Given the description of an element on the screen output the (x, y) to click on. 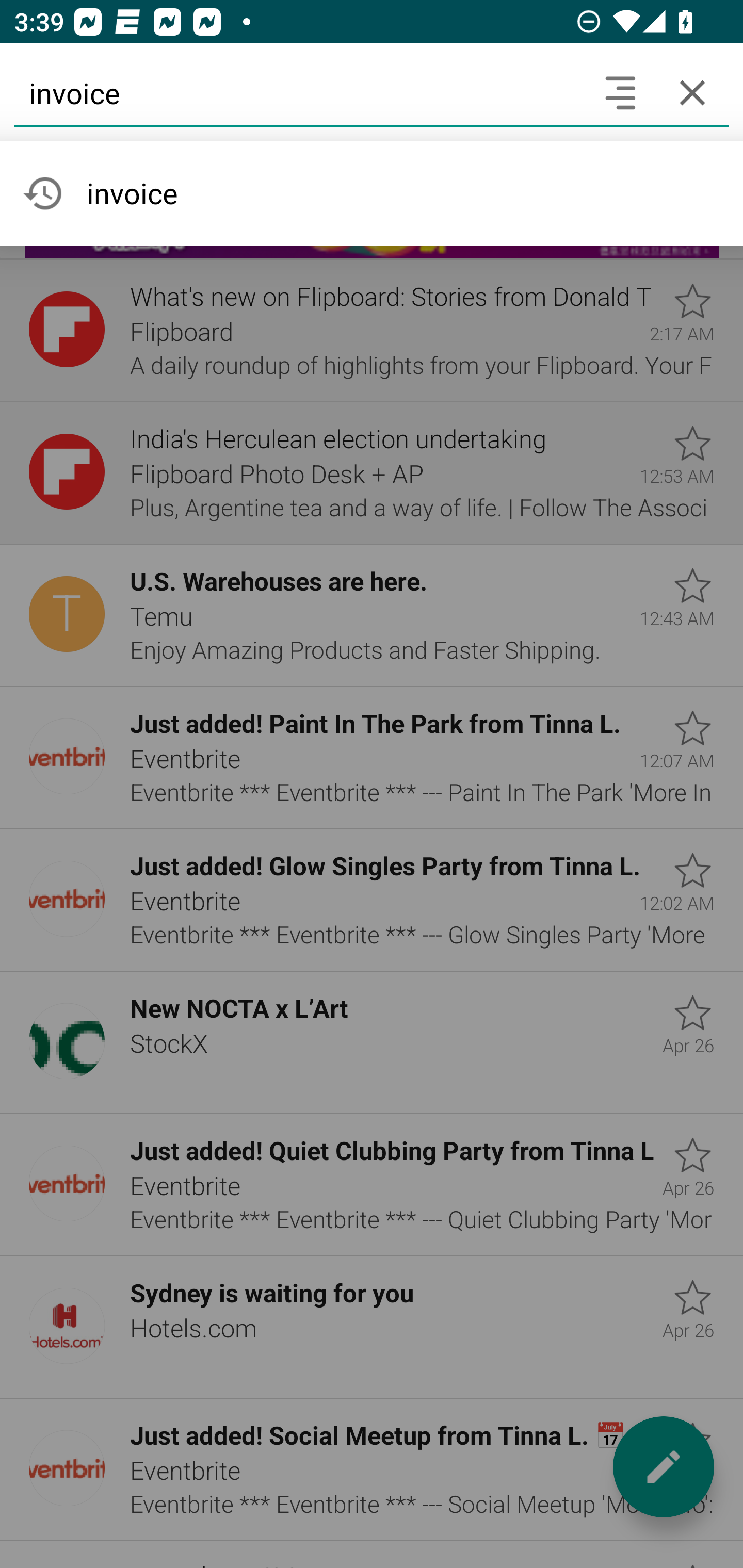
invoice (298, 92)
Search headers and text (619, 92)
Cancel (692, 92)
